Given the description of an element on the screen output the (x, y) to click on. 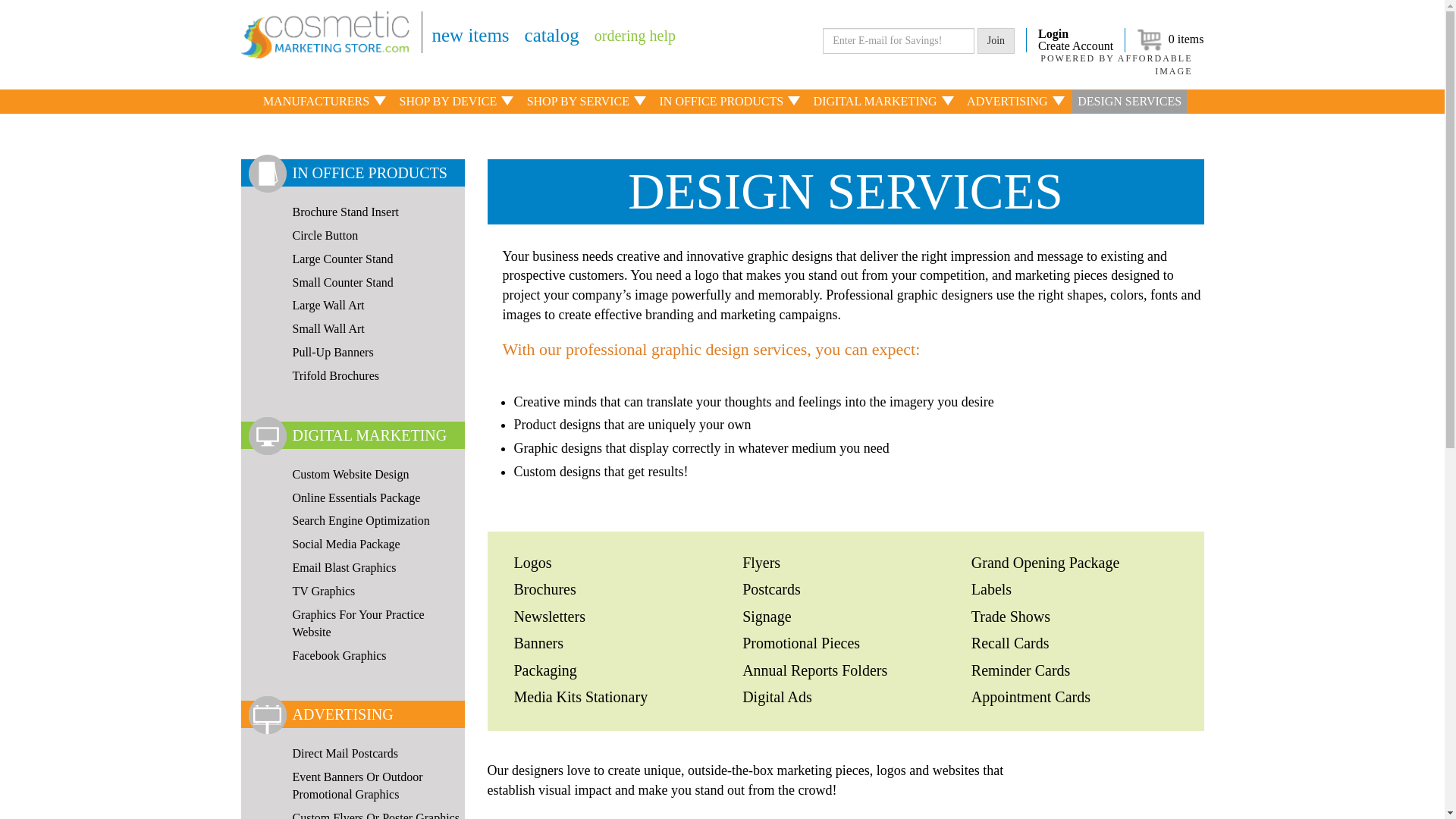
  0 items (1170, 39)
ordering help (634, 35)
Create Account (1075, 46)
Join (995, 40)
catalog (551, 35)
new items (470, 35)
Login (1075, 33)
